Given the description of an element on the screen output the (x, y) to click on. 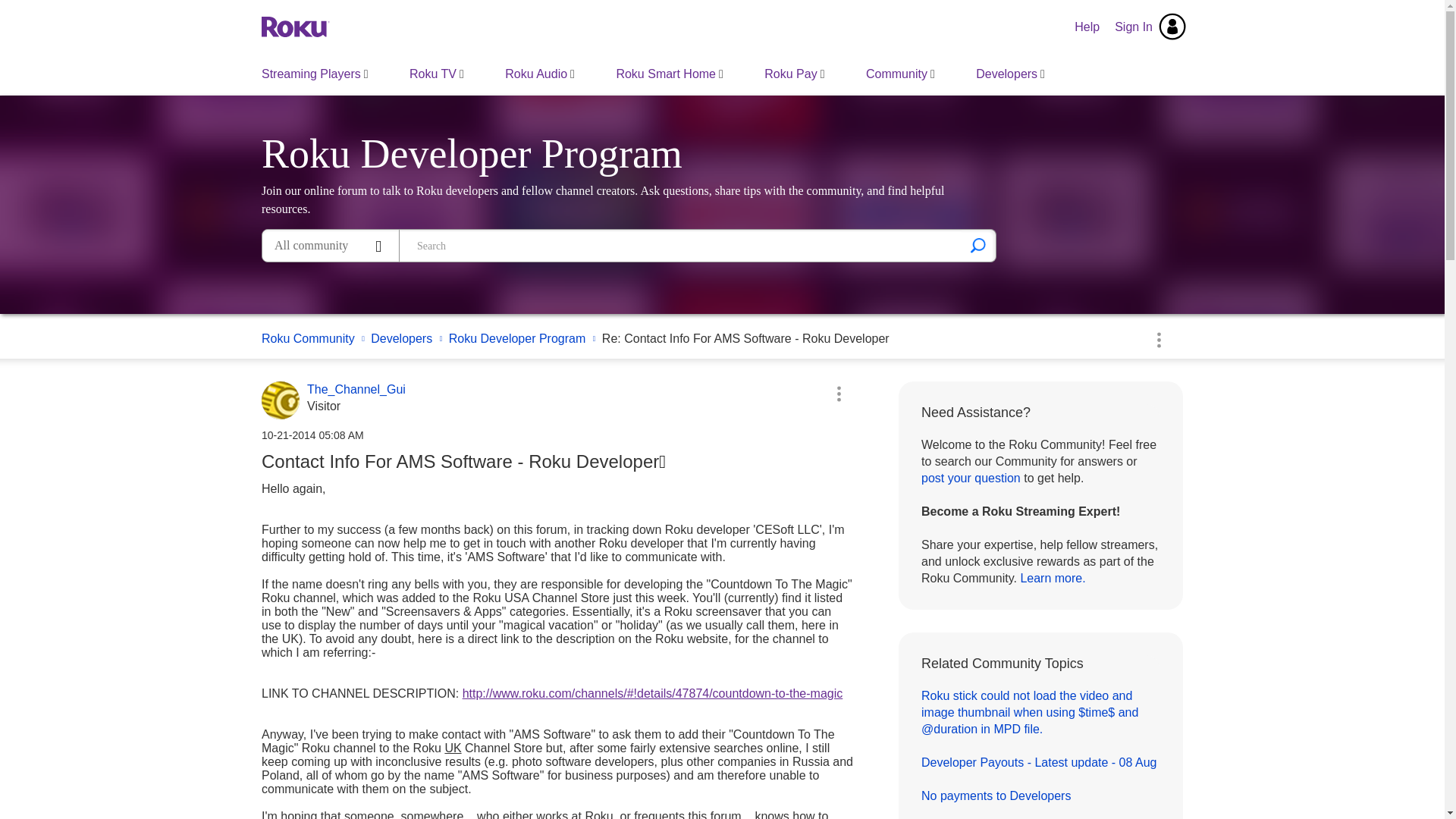
Help (1086, 26)
Sign In (1149, 26)
Posted on (557, 434)
Roku Pay (794, 73)
Search (977, 245)
Search (977, 245)
Roku Smart Home (668, 73)
Roku Audio (540, 73)
Show option menu (1158, 339)
Search (680, 245)
